Given the description of an element on the screen output the (x, y) to click on. 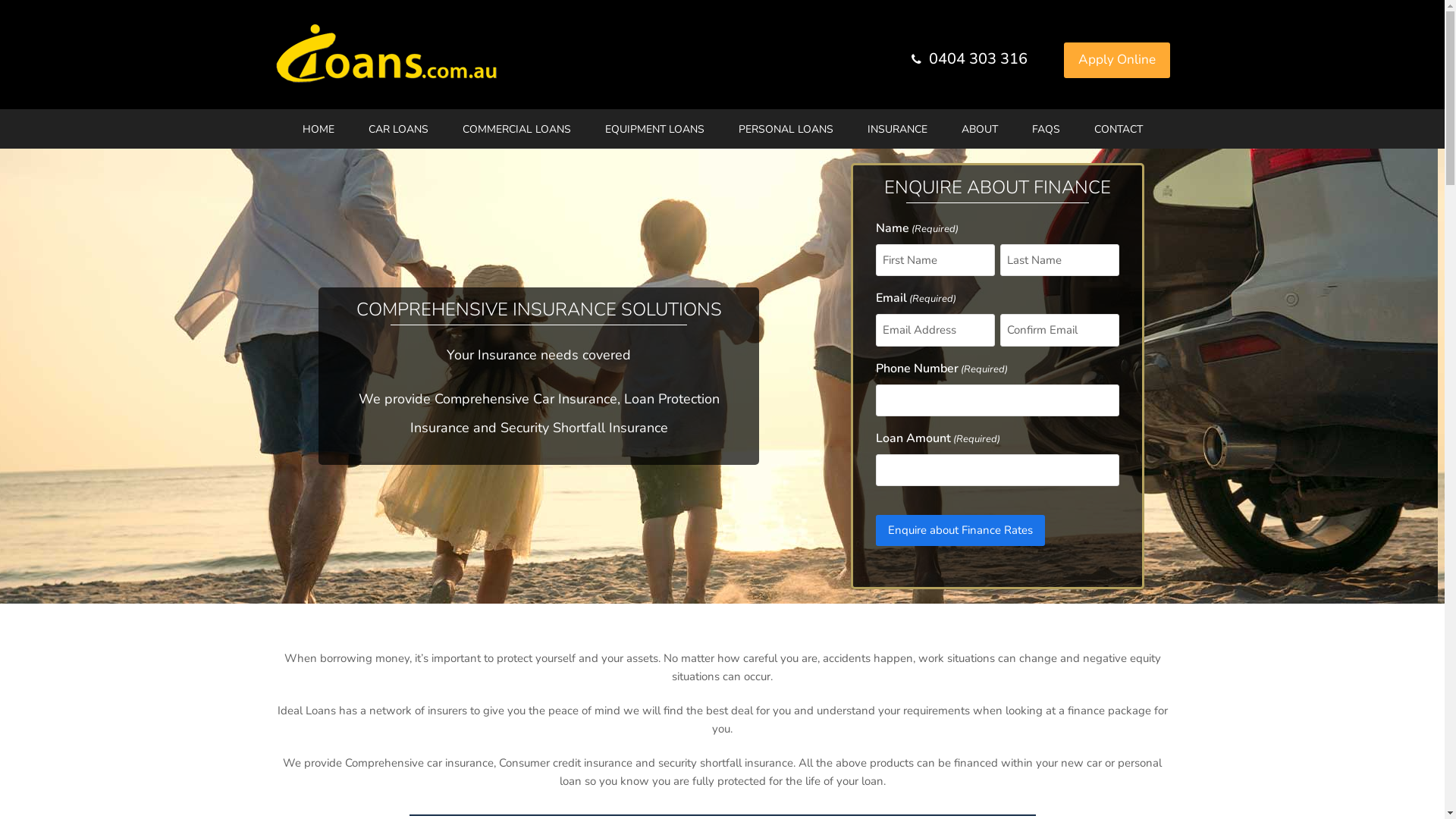
Enquire about Finance Rates Element type: text (959, 530)
HOME Element type: text (317, 128)
Apply Online Element type: text (1116, 60)
COMMERCIAL LOANS Element type: text (516, 128)
ABOUT Element type: text (979, 128)
INSURANCE Element type: text (897, 128)
CONTACT Element type: text (1117, 128)
0404 303 316 Element type: text (977, 56)
PERSONAL LOANS Element type: text (785, 128)
FAQS Element type: text (1045, 128)
EQUIPMENT LOANS Element type: text (654, 128)
CAR LOANS Element type: text (398, 128)
